Given the description of an element on the screen output the (x, y) to click on. 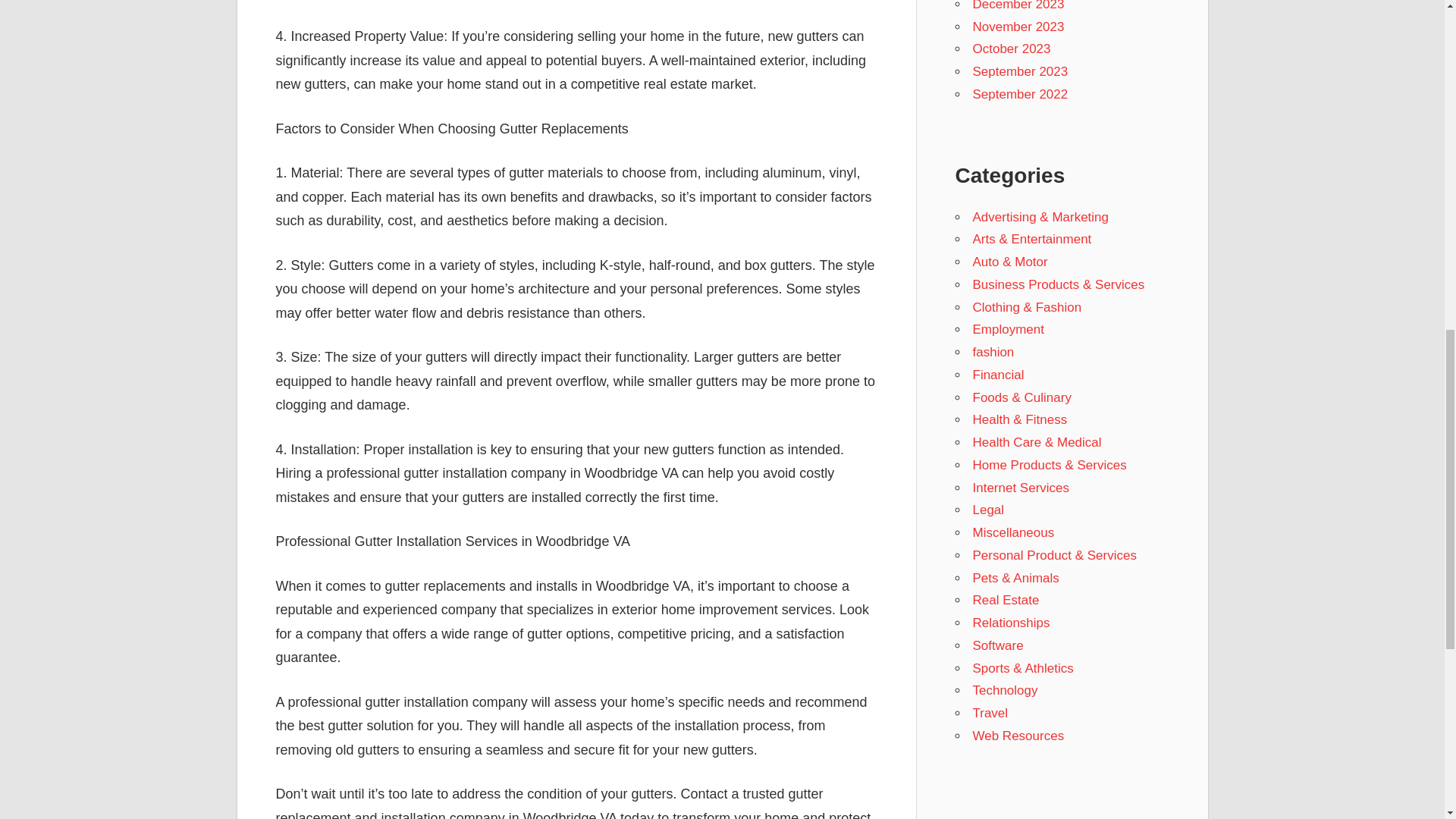
September 2022 (1019, 93)
September 2023 (1019, 71)
Employment (1007, 329)
December 2023 (1018, 5)
Financial (997, 374)
fashion (992, 351)
November 2023 (1018, 26)
October 2023 (1010, 48)
